Given the description of an element on the screen output the (x, y) to click on. 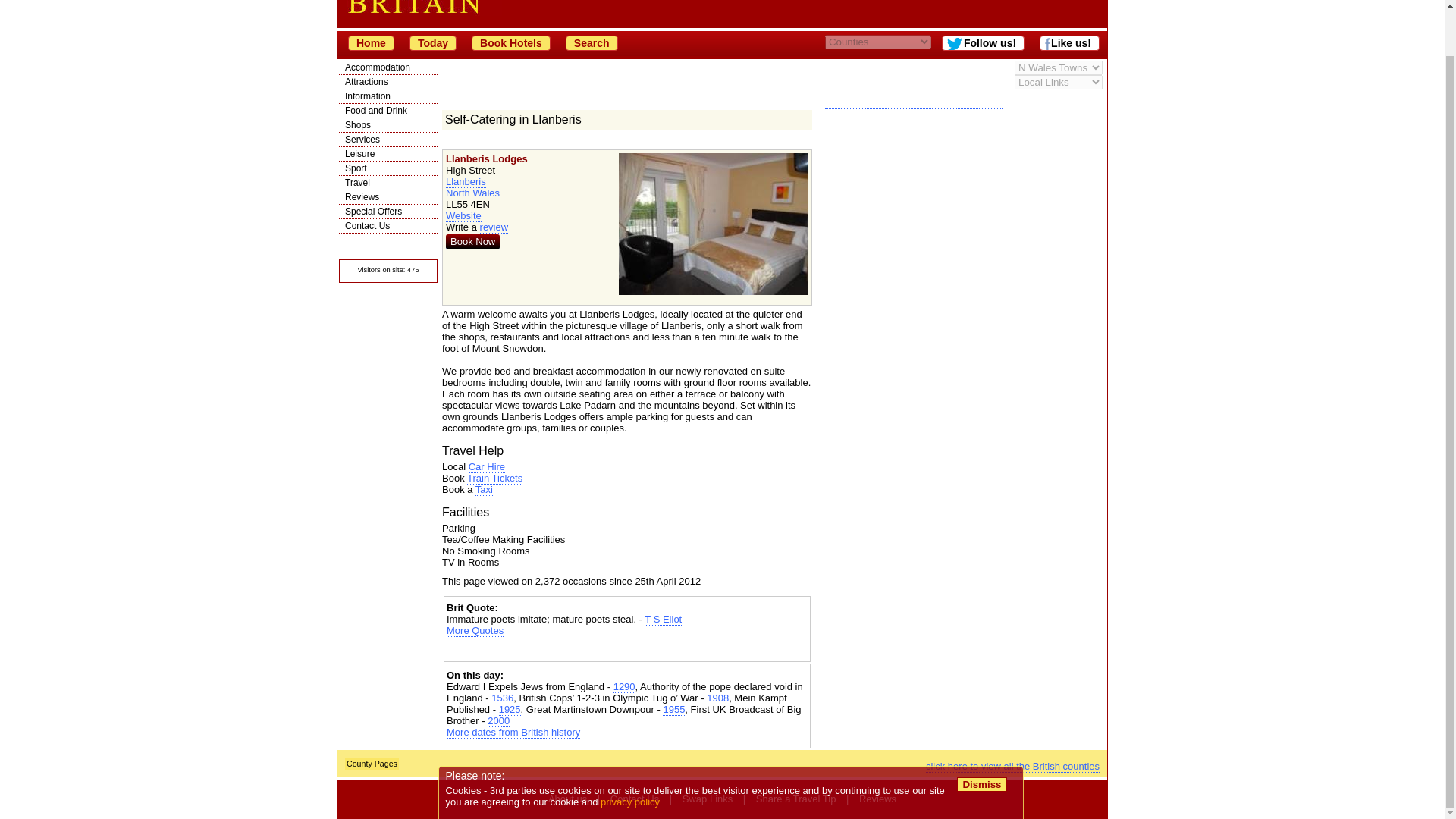
Advertisement (913, 204)
Special Offers (388, 211)
Advertisement (627, 649)
Like us! (1069, 43)
Today (433, 43)
Contact Us (388, 225)
Home (370, 43)
Follow us! (983, 43)
Book Hotels (510, 43)
Review Centre (388, 196)
Accommodation (388, 67)
Search (591, 43)
